Given the description of an element on the screen output the (x, y) to click on. 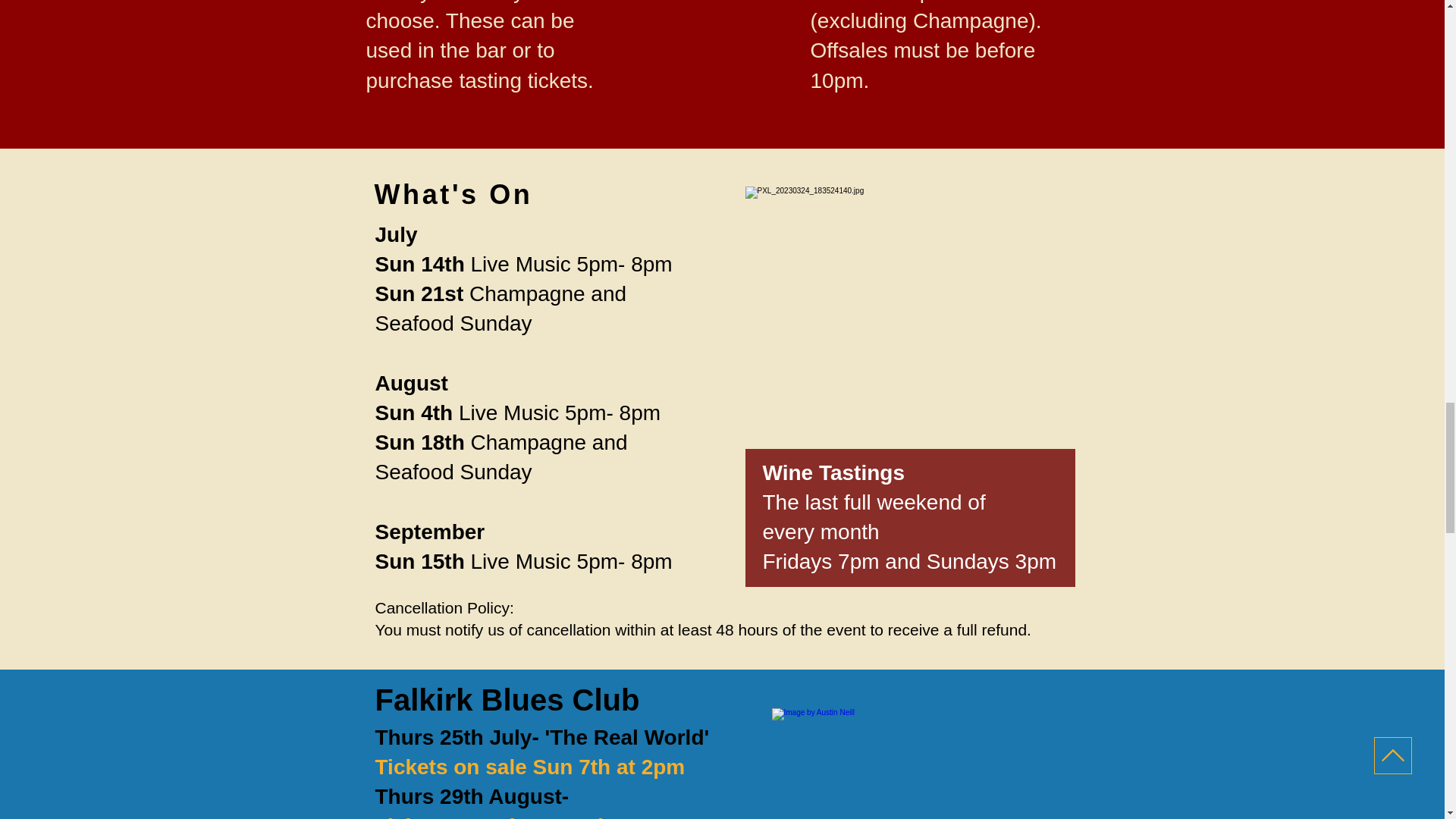
What's On (453, 194)
